Given the description of an element on the screen output the (x, y) to click on. 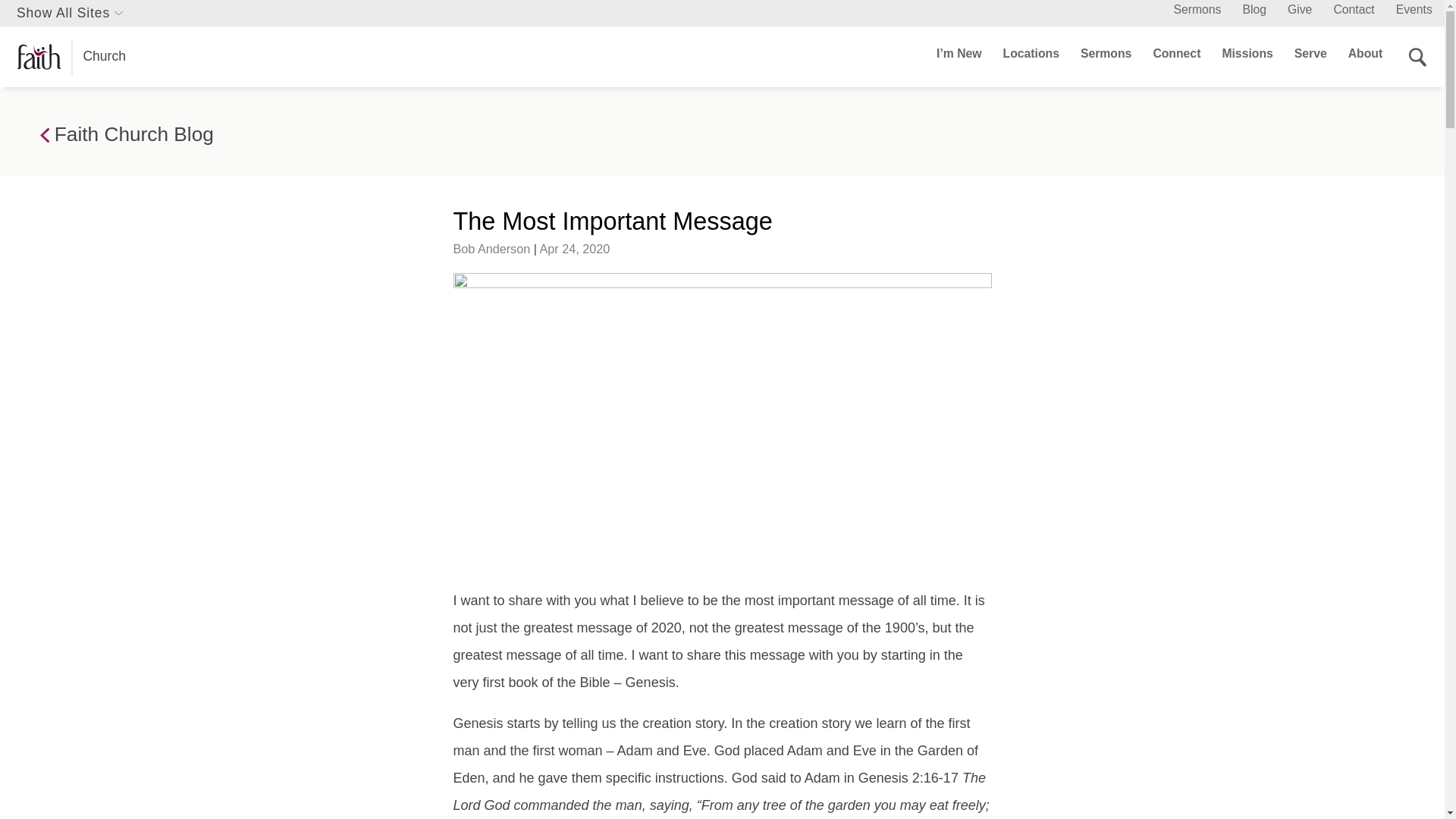
Blog (1254, 9)
Events (1414, 9)
Sermons (1197, 9)
Contact (1354, 9)
Give (1299, 9)
